Given the description of an element on the screen output the (x, y) to click on. 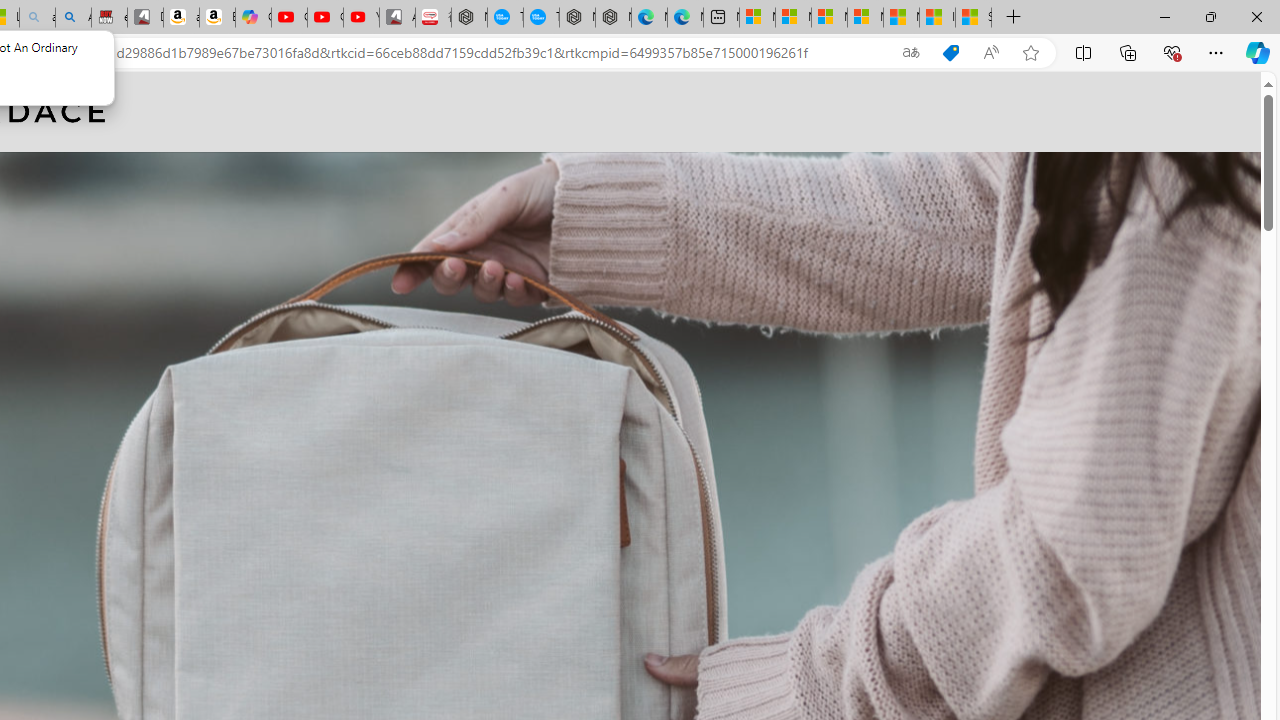
Microsoft account | Microsoft Account Privacy Settings (793, 17)
Copilot (253, 17)
amazon.in/dp/B0CX59H5W7/?tag=gsmcom05-21 (180, 17)
The most popular Google 'how to' searches (541, 17)
Nordace - My Account (469, 17)
This site has coupons! Shopping in Microsoft Edge (950, 53)
Show translate options (910, 53)
YouTube Kids - An App Created for Kids to Explore Content (361, 17)
I Gained 20 Pounds of Muscle in 30 Days! | Watch (937, 17)
